Given the description of an element on the screen output the (x, y) to click on. 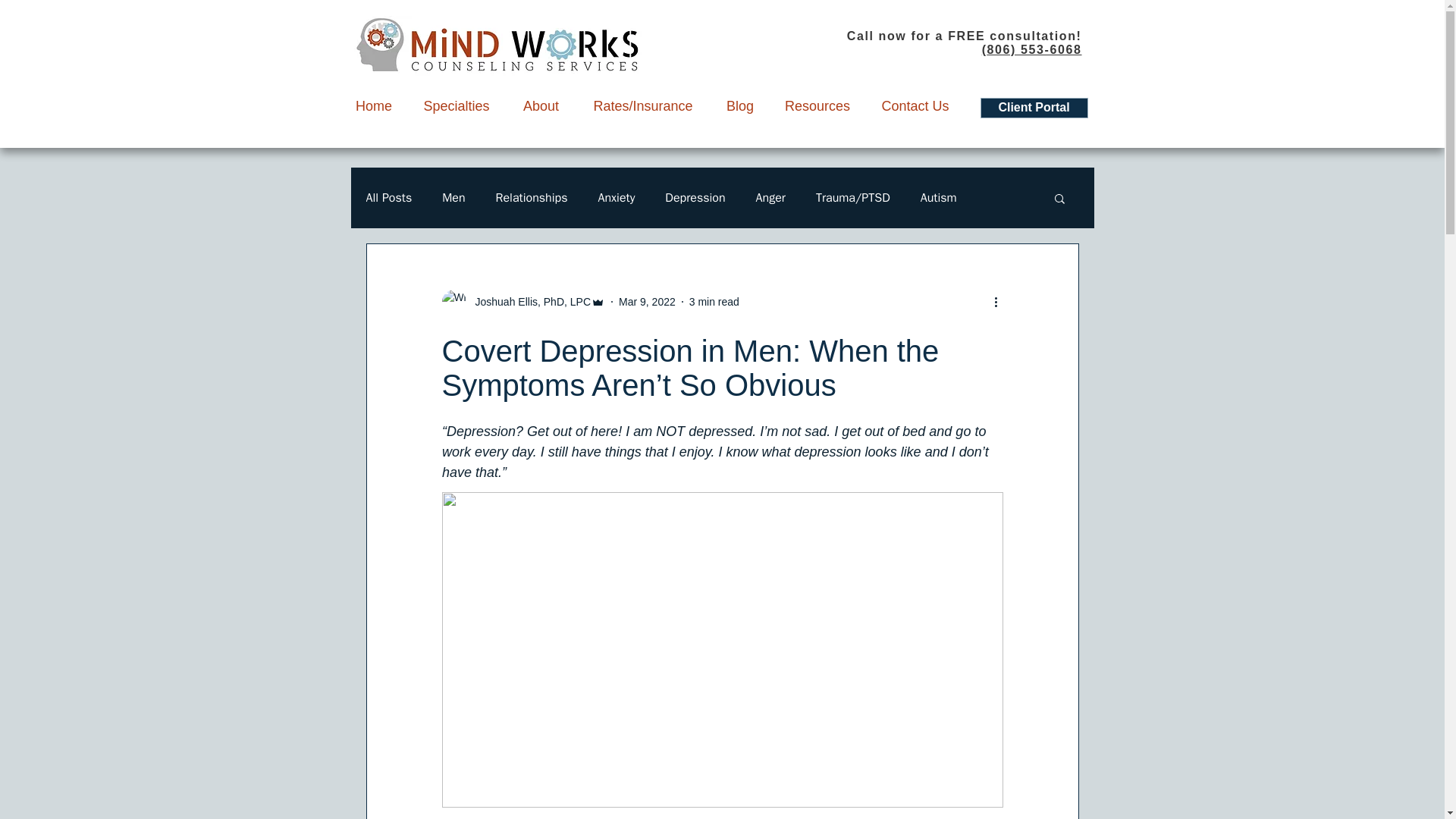
Contact Us (914, 106)
Mar 9, 2022 (646, 301)
Blog (740, 106)
Anger (770, 197)
Autism (938, 197)
All Posts (388, 197)
Joshuah Ellis, PhD, LPC (523, 301)
3 min read (713, 301)
Home (373, 106)
Relationships (531, 197)
About (541, 106)
Client Portal (1033, 107)
Depression (695, 197)
Anxiety (615, 197)
Joshuah Ellis, PhD, LPC (528, 302)
